Given the description of an element on the screen output the (x, y) to click on. 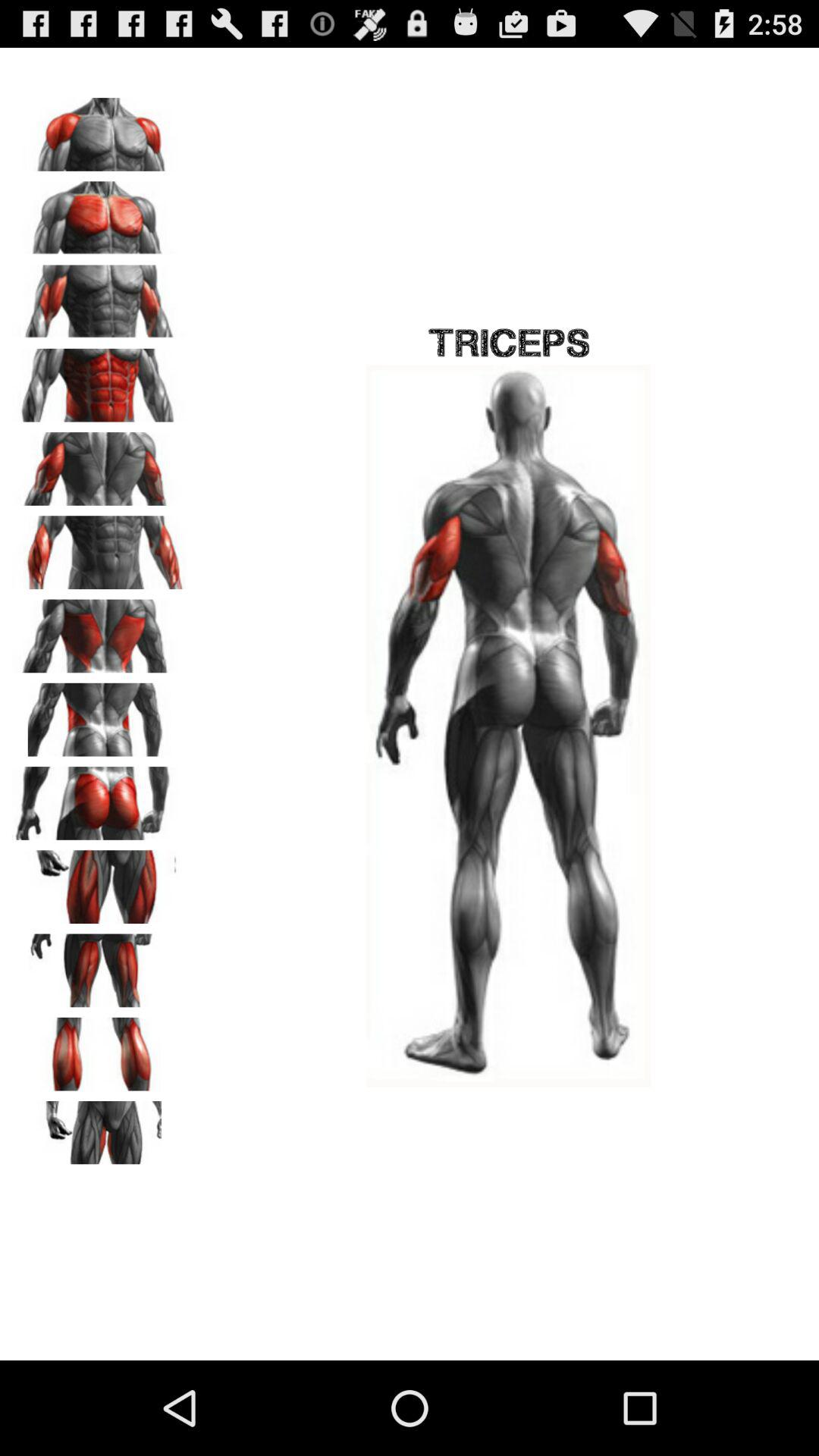
go to selected photo (99, 630)
